Given the description of an element on the screen output the (x, y) to click on. 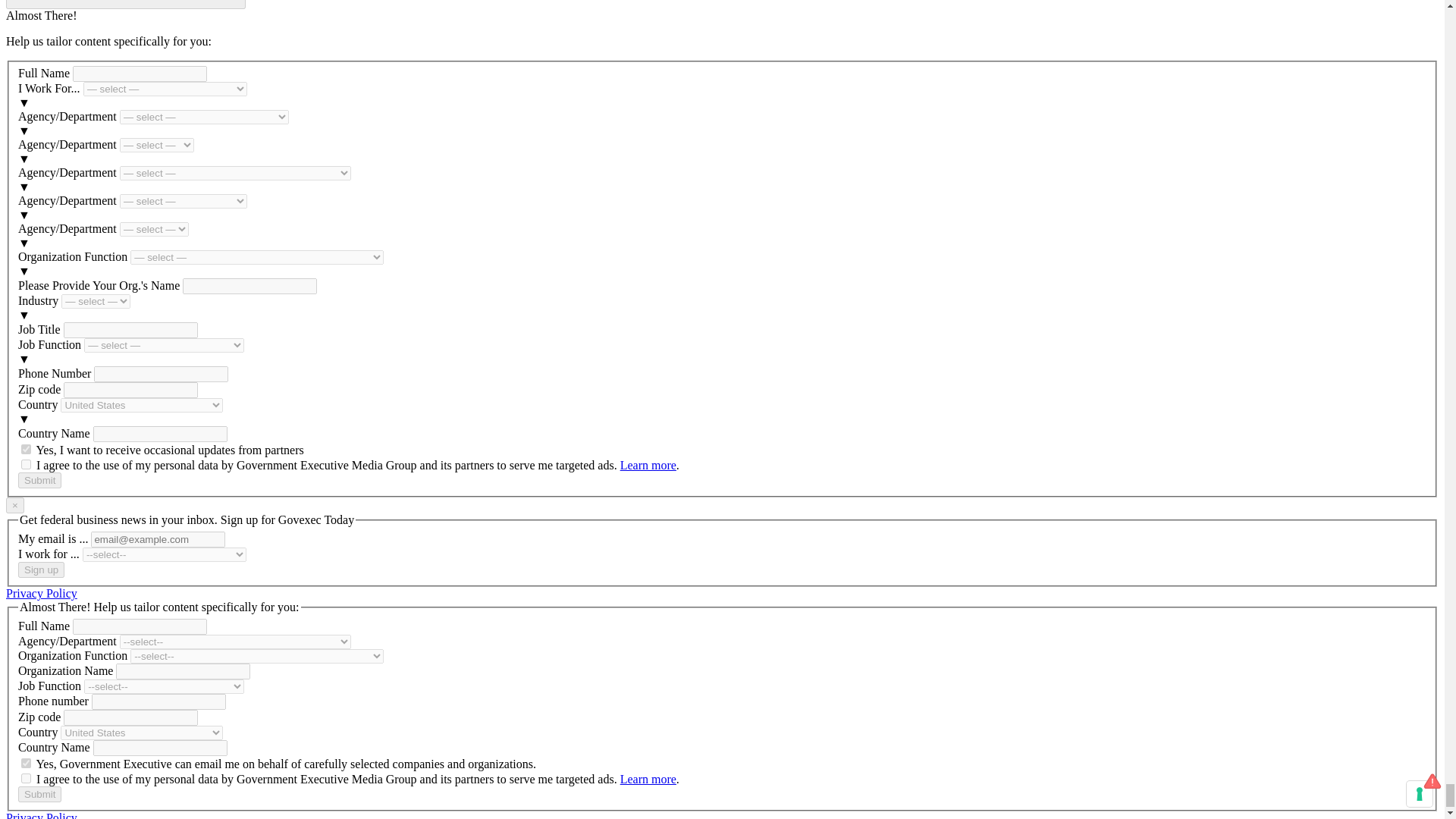
on (25, 763)
on (25, 464)
on (25, 777)
on (25, 449)
Submit (39, 480)
